Given the description of an element on the screen output the (x, y) to click on. 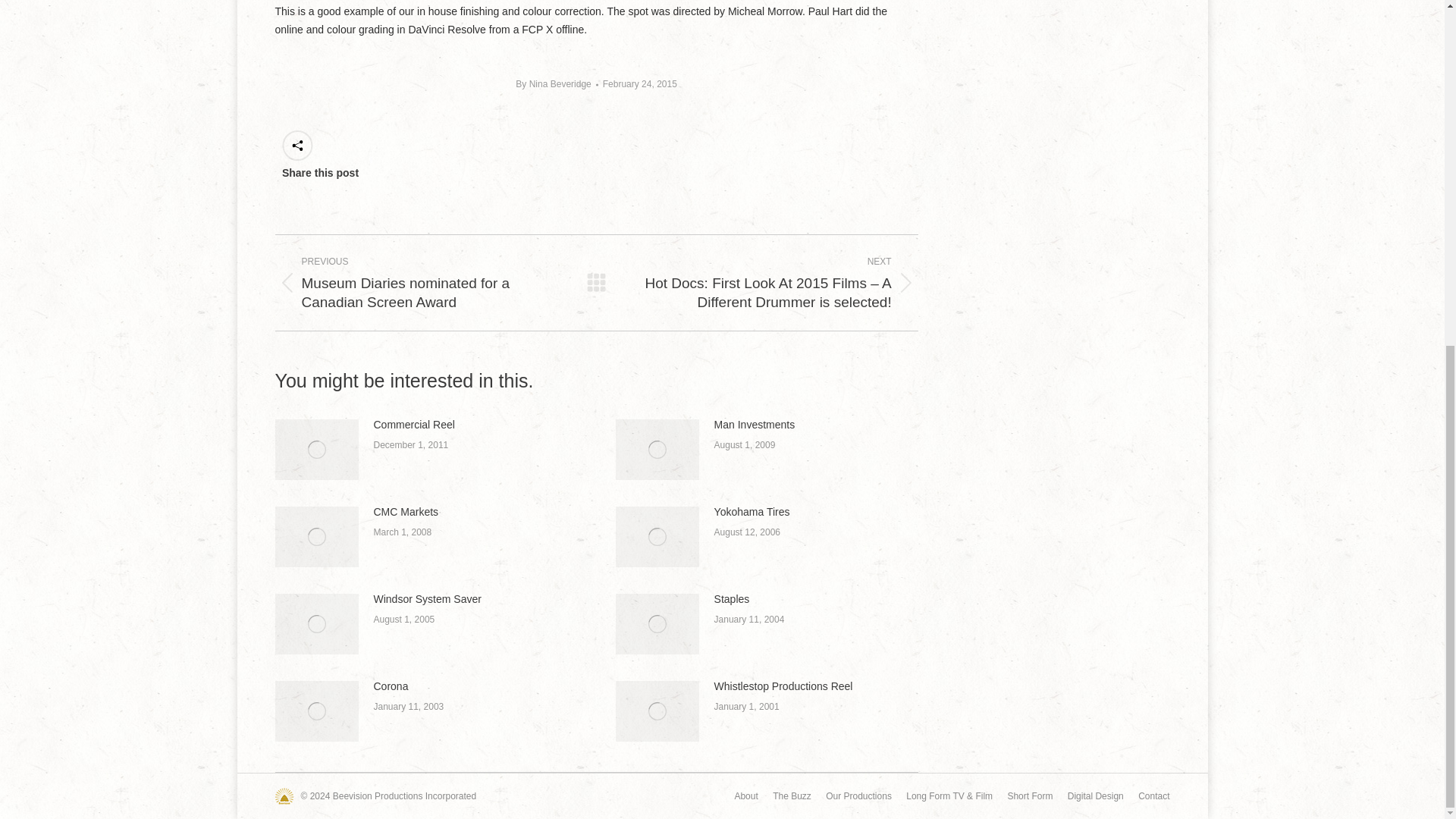
12:00 am (639, 84)
View all posts by Nina Beveridge (555, 84)
February 24, 2015 (639, 84)
Commercial Reel (413, 424)
Man Investments (754, 424)
By Nina Beveridge (555, 84)
